Given the description of an element on the screen output the (x, y) to click on. 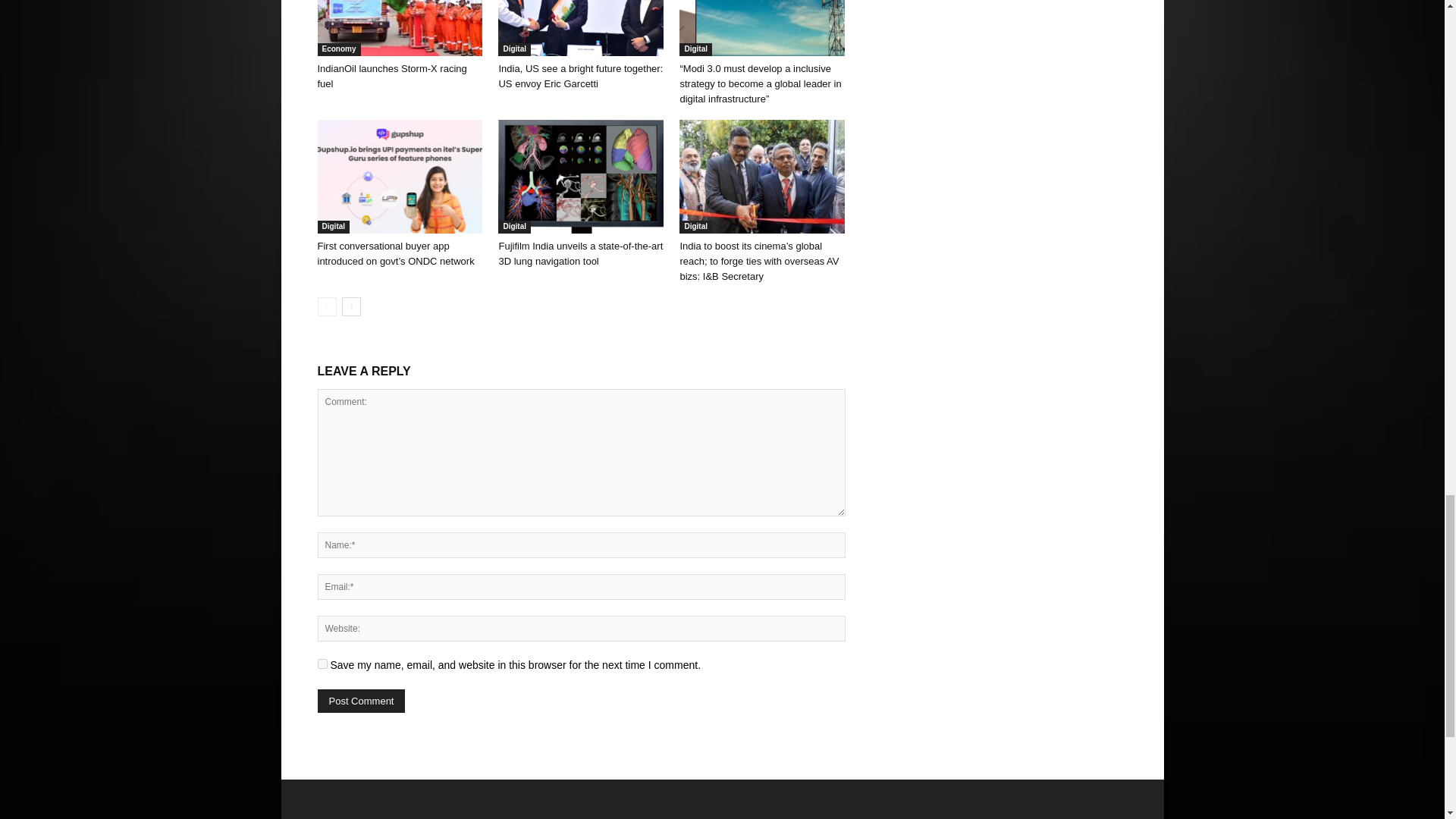
IndianOil launches Storm-X racing fuel (391, 76)
IndianOil launches Storm-X racing fuel (399, 28)
Post Comment (360, 700)
yes (321, 664)
